Given the description of an element on the screen output the (x, y) to click on. 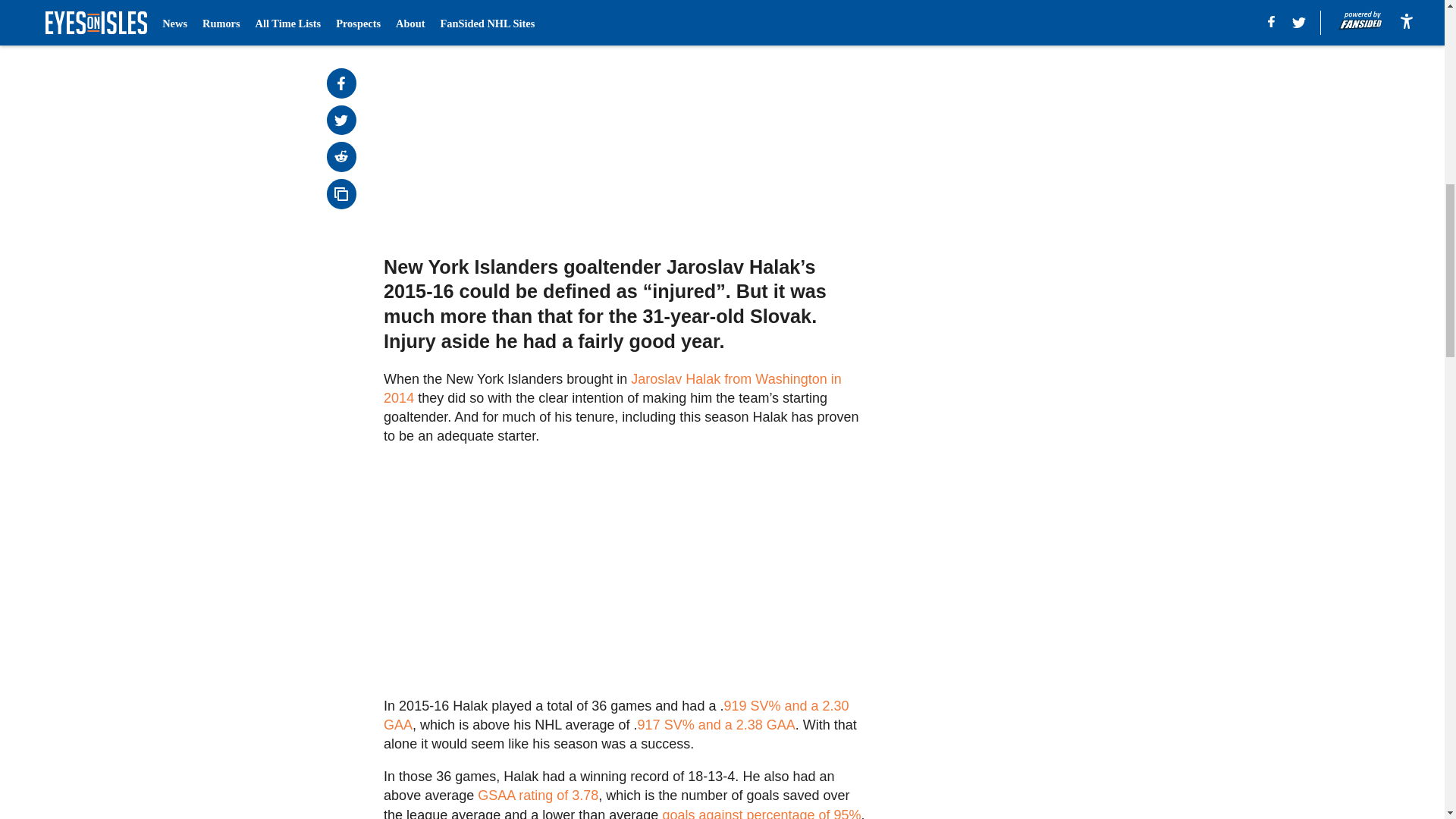
Jaroslav Halak from Washington in 2014 (612, 388)
GSAA rating of 3.78 (537, 795)
